Given the description of an element on the screen output the (x, y) to click on. 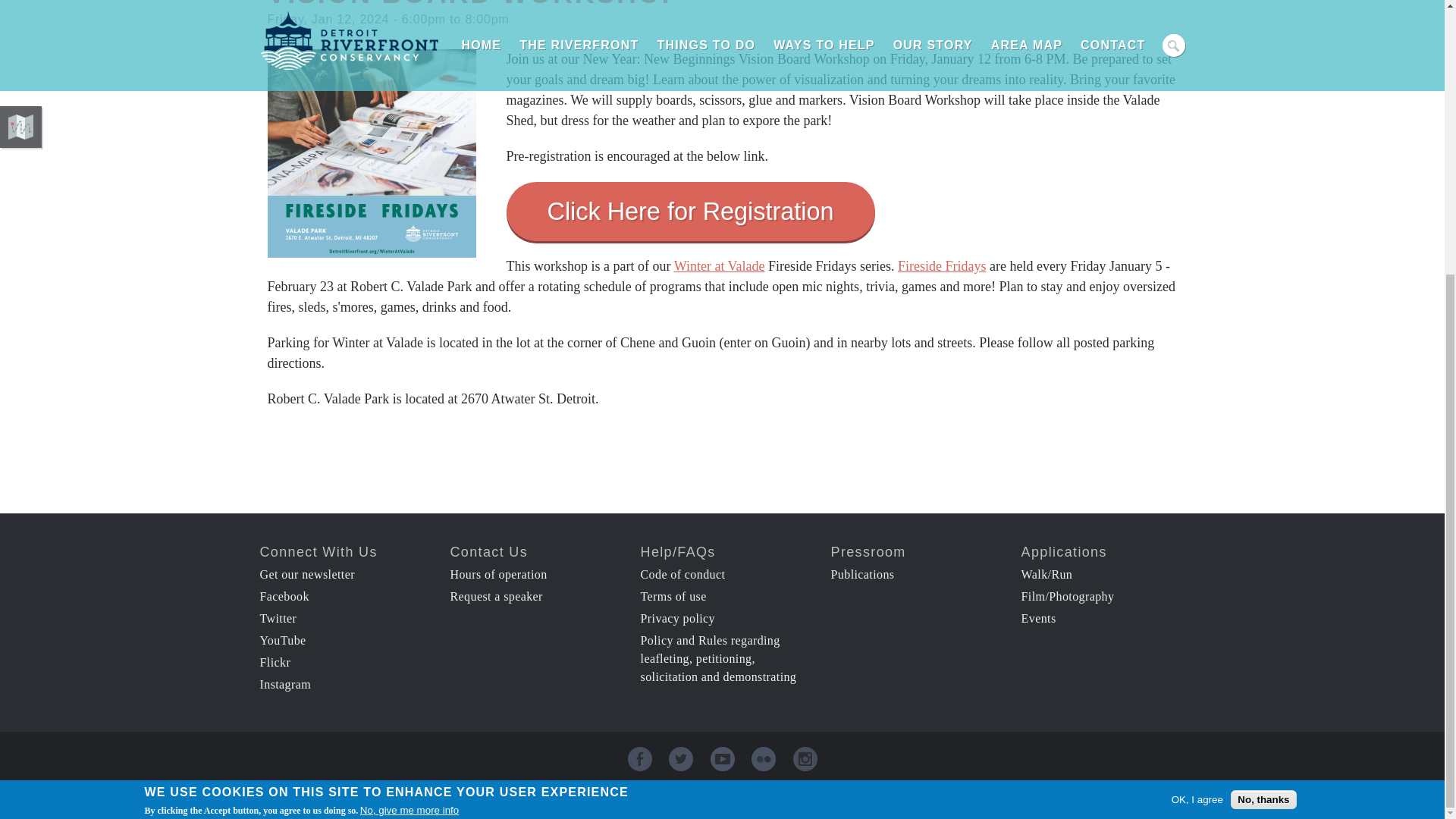
Hours of operation (498, 574)
Connect With Us (318, 551)
Get our newsletter (306, 574)
Request a speaker (496, 595)
Code of conduct (682, 574)
Annual reports (863, 574)
Application (1064, 551)
Privacy policy (677, 617)
Terms of use (673, 595)
